Given the description of an element on the screen output the (x, y) to click on. 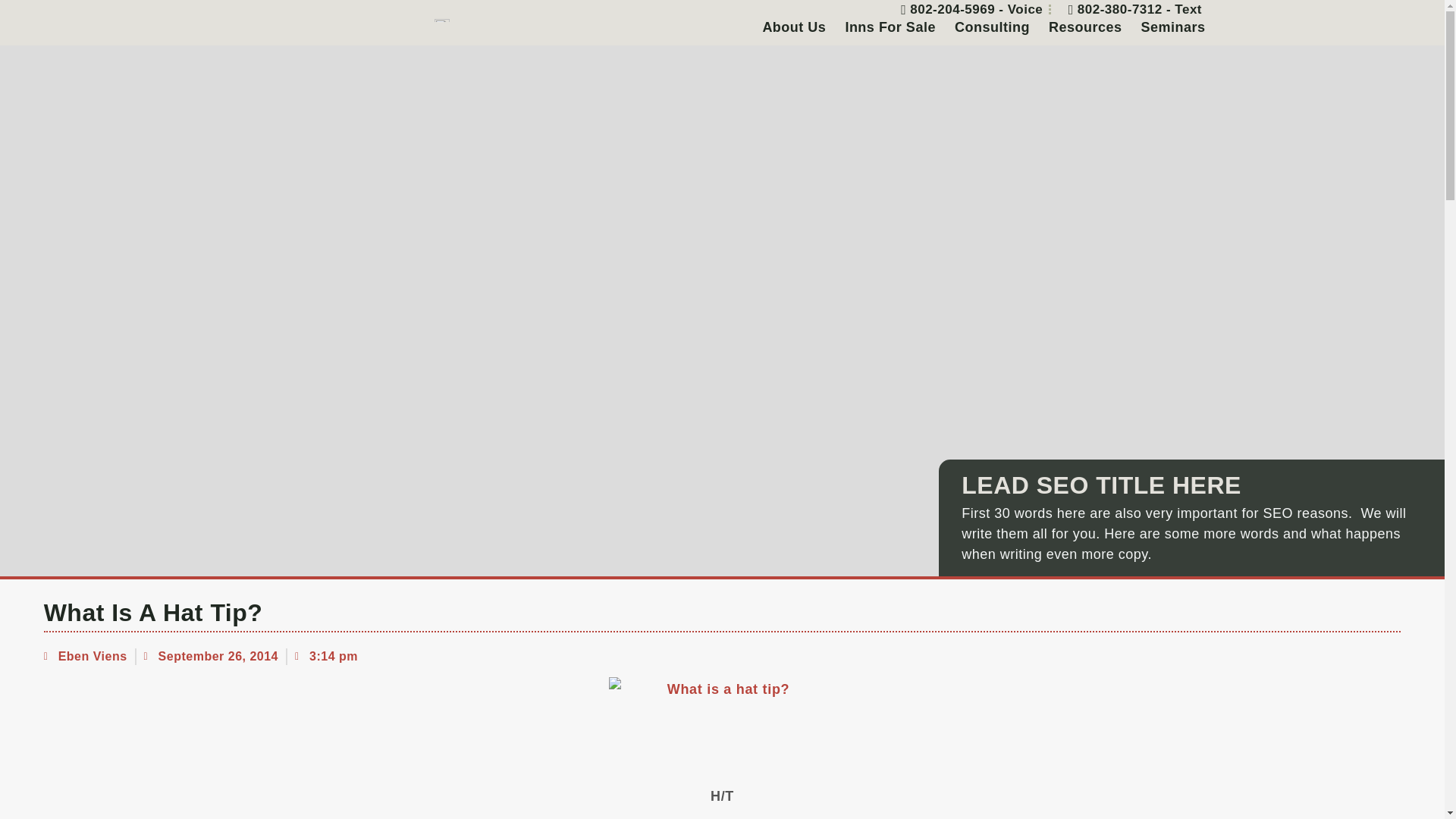
About Us (793, 27)
What is a Hat Tip? 1 (721, 725)
Inns For Sale (890, 27)
Consulting (991, 27)
Seminars (1172, 27)
Resources (1085, 27)
802-380-7312 - Text (1129, 9)
802-204-5969 - Voice (966, 9)
